Given the description of an element on the screen output the (x, y) to click on. 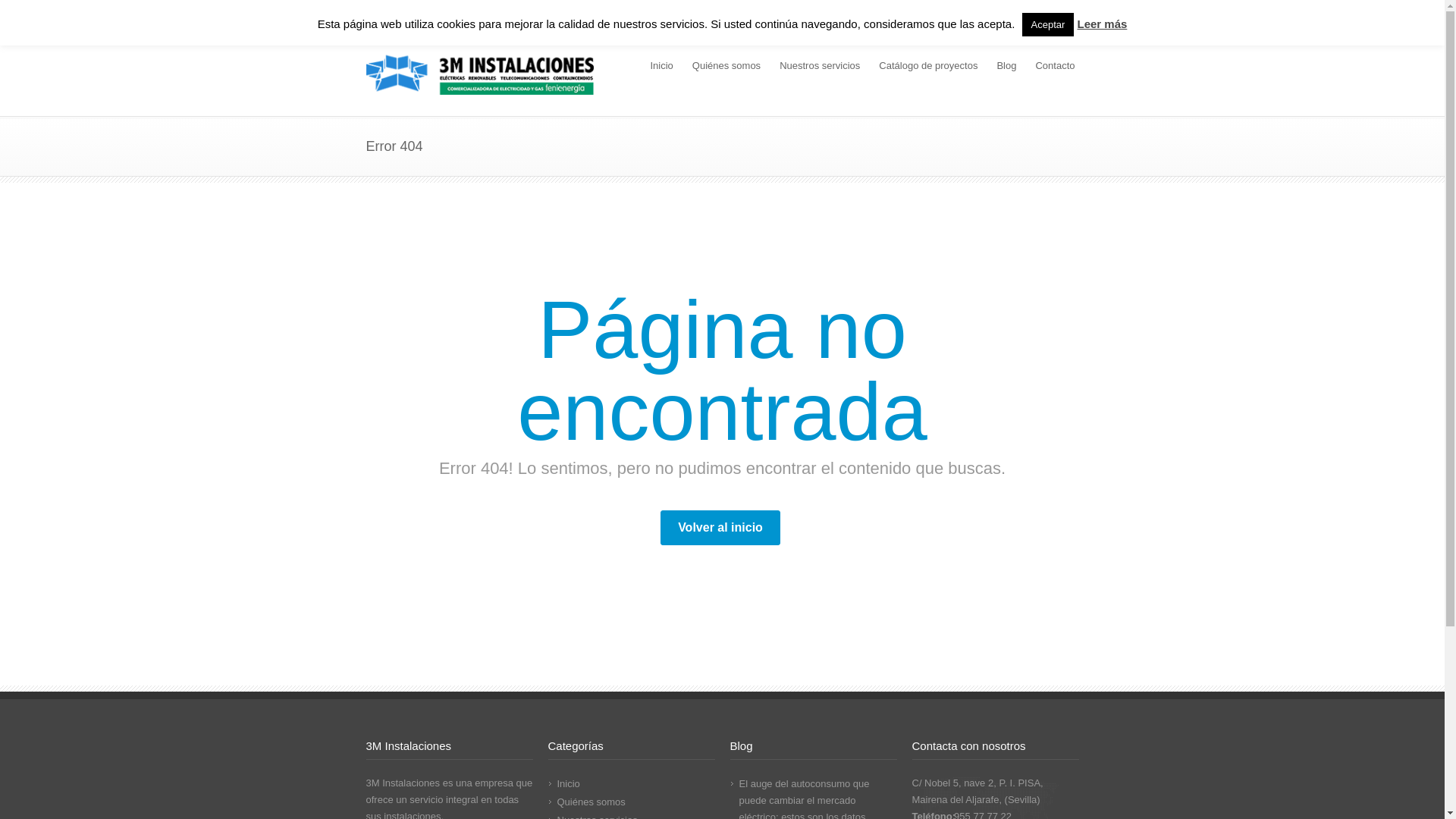
Facebook Element type: text (1063, 17)
Inicio Element type: text (567, 783)
Twitter Element type: text (1032, 17)
Blog Element type: text (1005, 66)
Contacto Element type: text (1054, 66)
Volver al inicio Element type: text (720, 527)
Nuestros servicios Element type: text (819, 66)
Inicio Element type: text (661, 66)
Aceptar Element type: text (1048, 24)
